Given the description of an element on the screen output the (x, y) to click on. 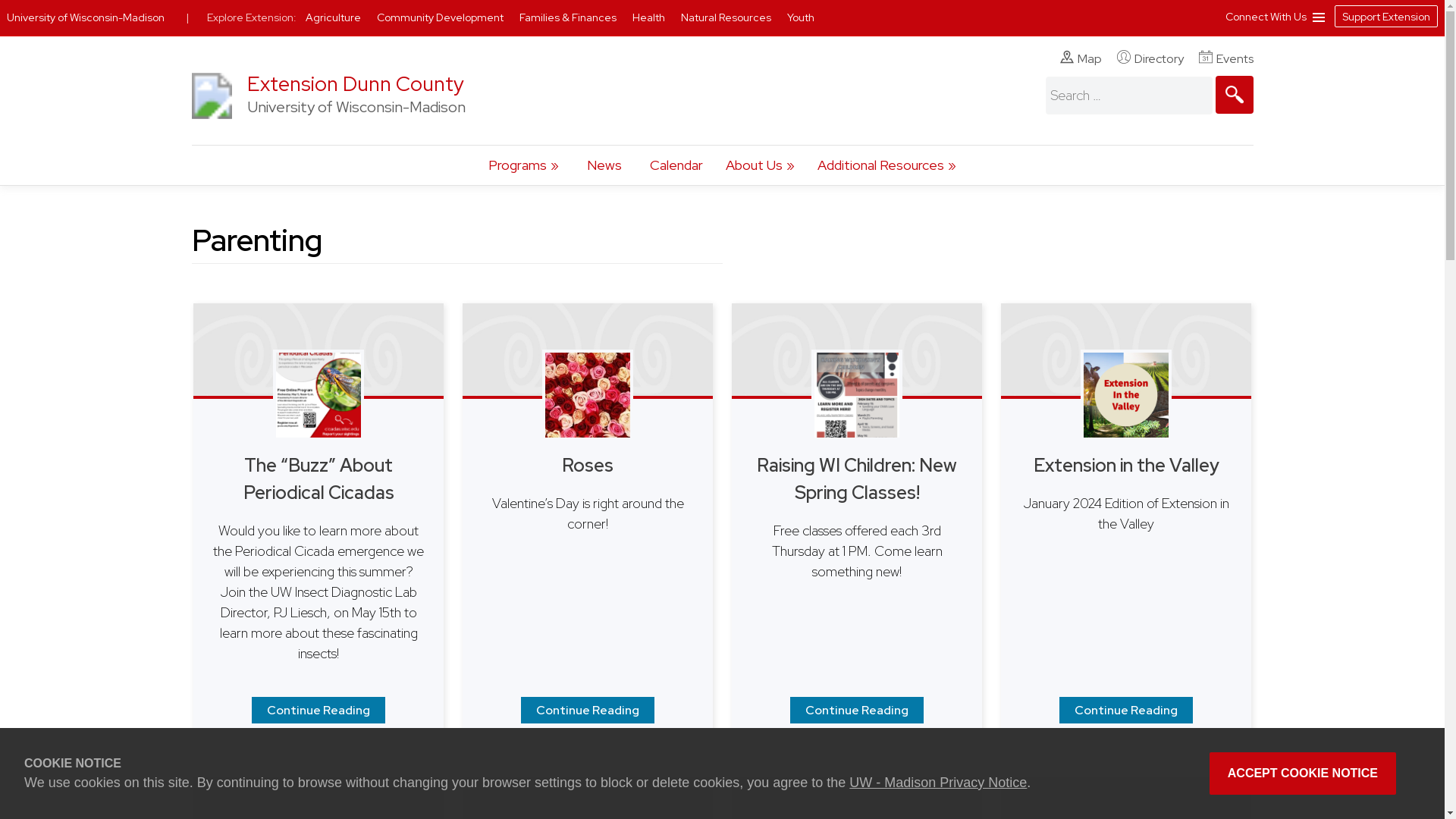
Programs (523, 165)
Extension Dunn County (355, 83)
Roses (587, 709)
Search (1233, 94)
Directory (1149, 58)
University of Wisconsin-Madison (210, 122)
Events (1225, 58)
UW - Madison Privacy Notice (937, 782)
Extension in the Valley (1125, 709)
Raising WI Children: New Spring Classes! (856, 709)
Search (1233, 94)
Map (1080, 58)
ACCEPT COOKIE NOTICE (1302, 773)
